Given the description of an element on the screen output the (x, y) to click on. 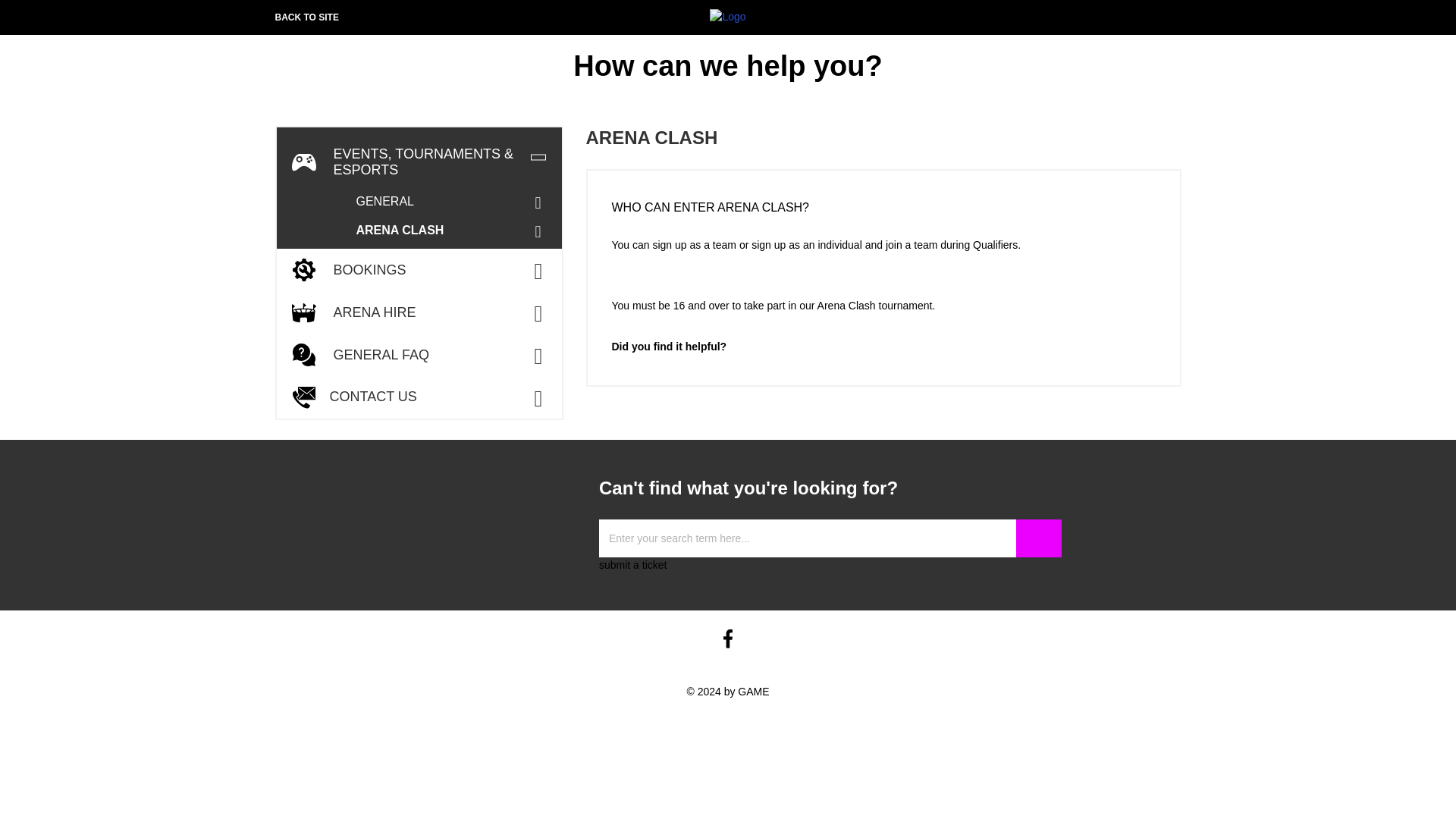
BACK TO SITE (306, 17)
BOOKINGS (418, 269)
WHO CAN ENTER ARENA CLASH? (882, 203)
GENERAL FAQ (418, 354)
CONTACT US (418, 396)
GENERAL (455, 201)
ARENA CLASH (455, 230)
ARENA HIRE (418, 312)
